Given the description of an element on the screen output the (x, y) to click on. 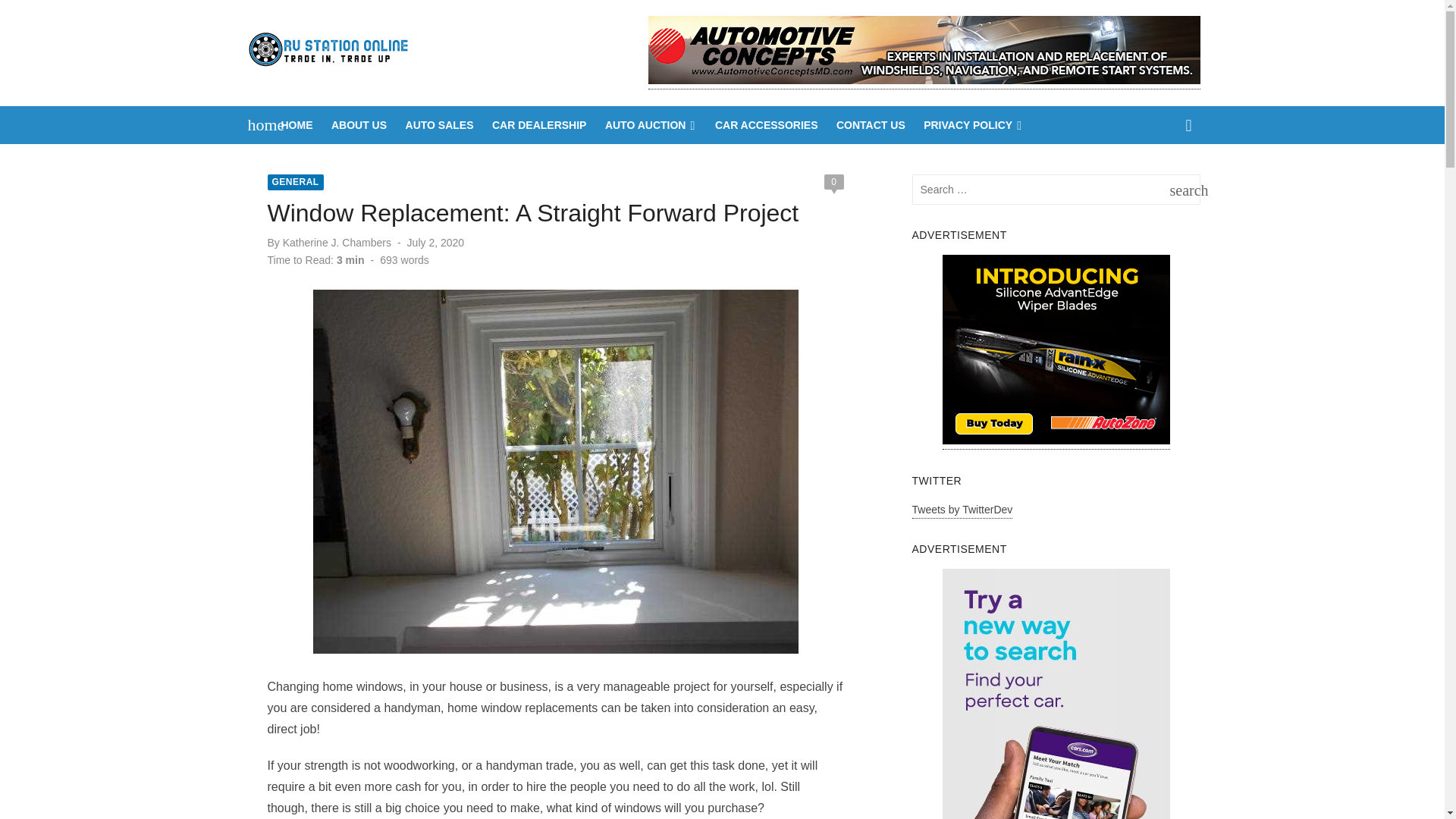
0 (833, 181)
HOME (296, 125)
GENERAL (294, 182)
CAR DEALERSHIP (539, 125)
home (258, 124)
PRIVACY POLICY (973, 125)
CAR ACCESSORIES (766, 125)
Tweets by TwitterDev (962, 510)
July 2, 2020 (1180, 189)
